Given the description of an element on the screen output the (x, y) to click on. 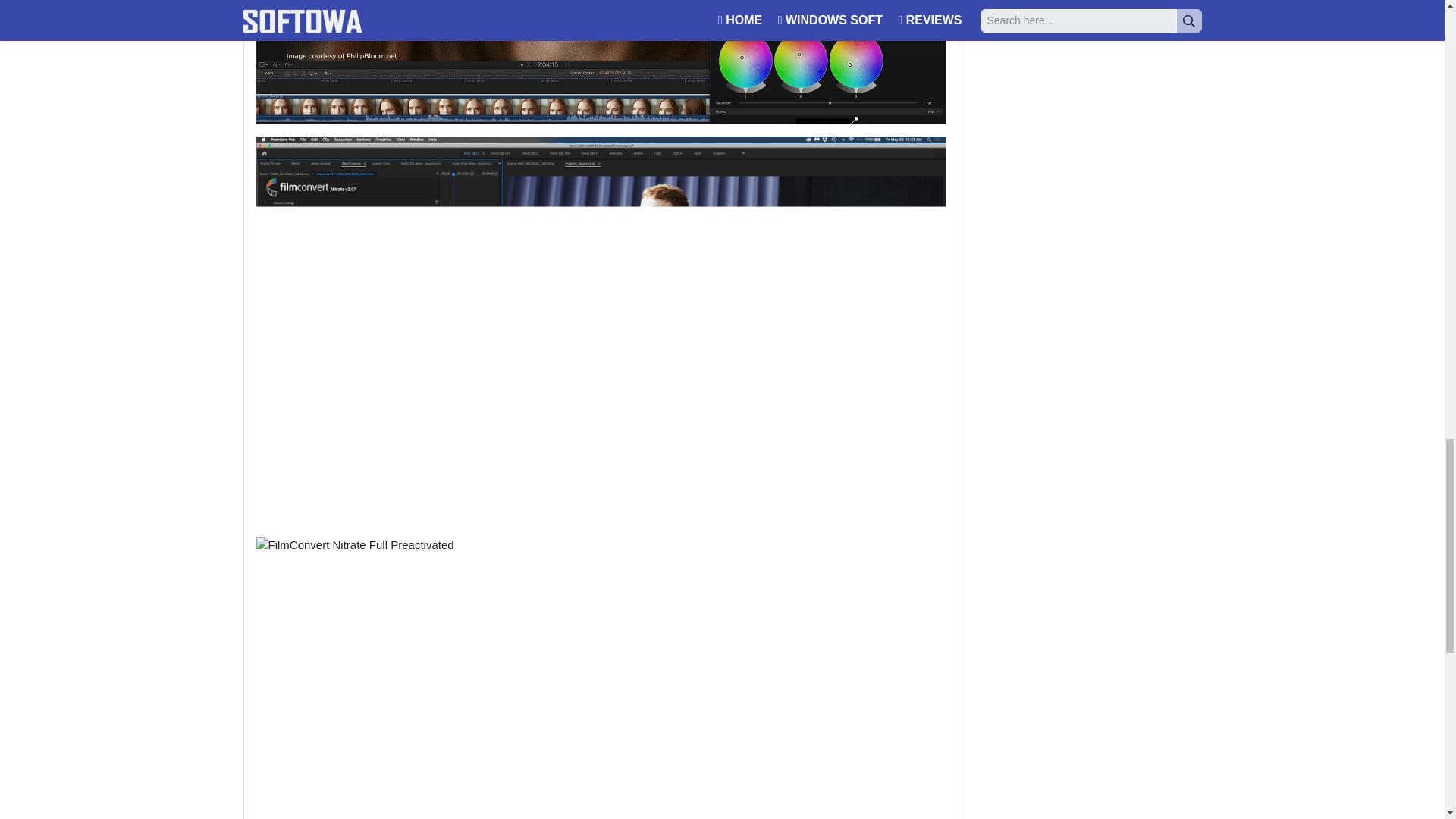
FilmConvert Nitrate Full Preactivated (601, 62)
